Given the description of an element on the screen output the (x, y) to click on. 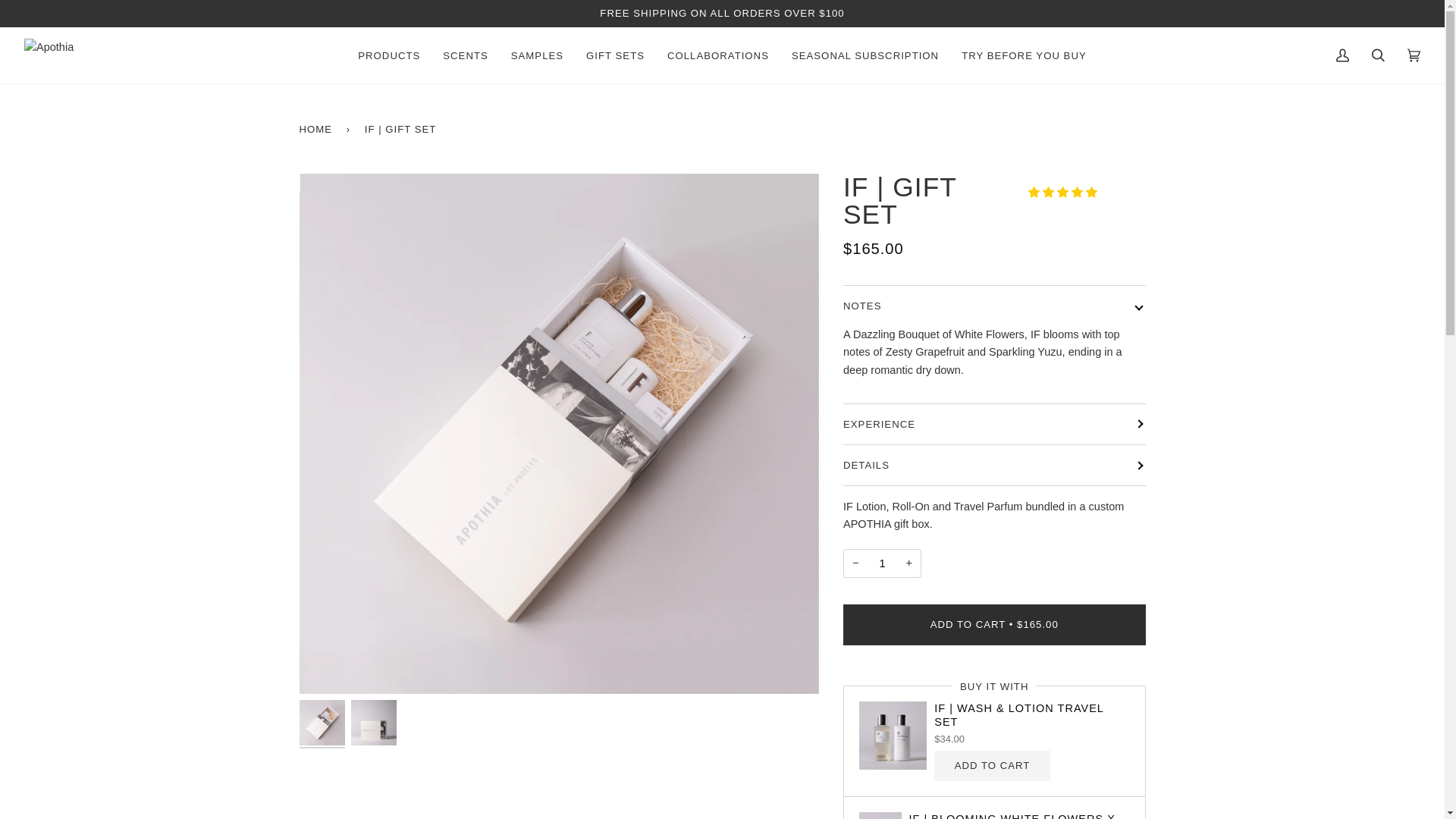
1 (882, 563)
Back to the frontpage (317, 128)
SAMPLES (537, 55)
PRODUCTS (388, 55)
SCENTS (464, 55)
